Given the description of an element on the screen output the (x, y) to click on. 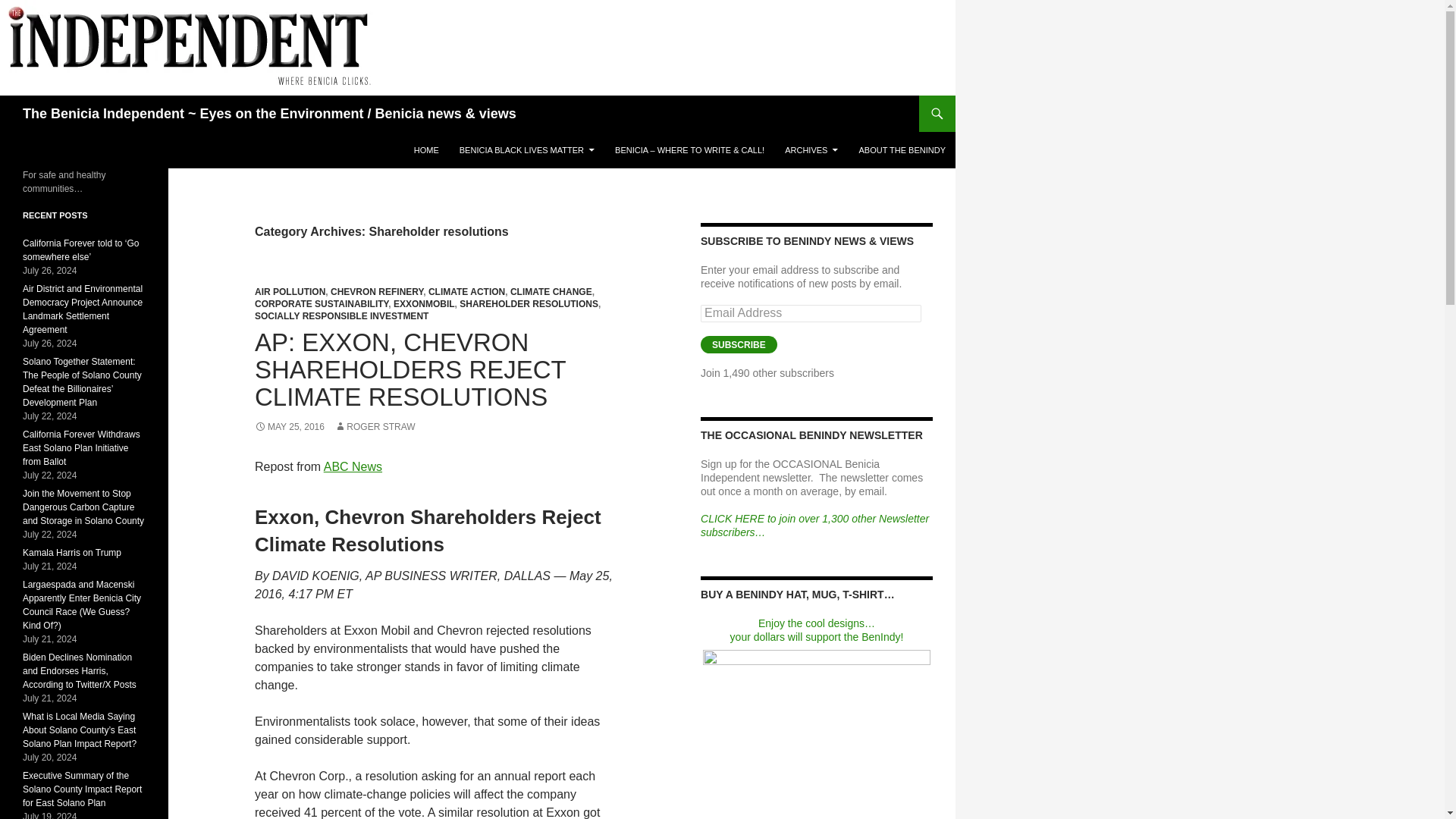
ARCHIVES (811, 149)
HOME (426, 149)
BENICIA BLACK LIVES MATTER (526, 149)
